Given the description of an element on the screen output the (x, y) to click on. 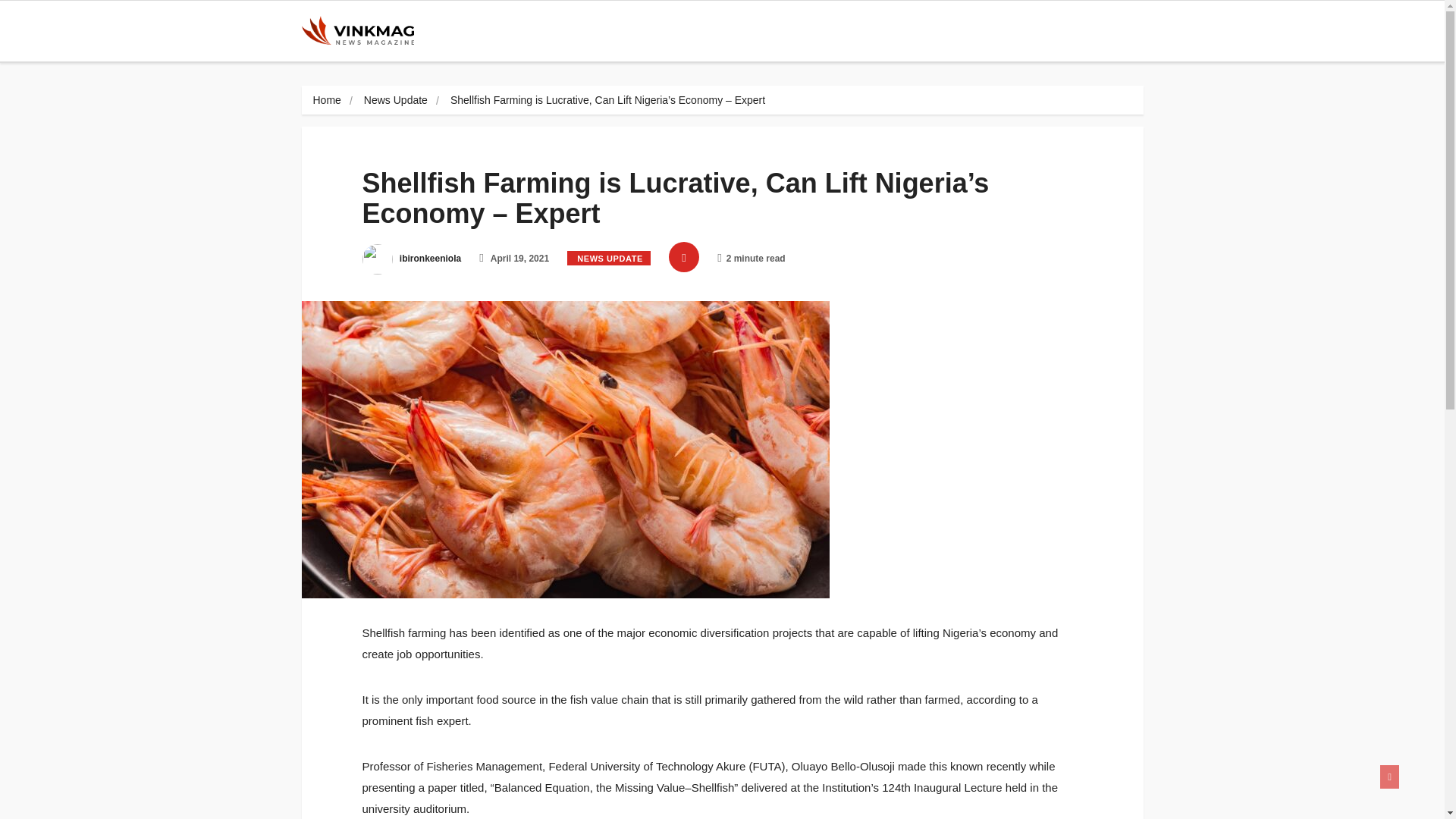
NEWS UPDATE (608, 257)
ibironkeeniola (411, 258)
Home (326, 100)
News Update (396, 100)
